Given the description of an element on the screen output the (x, y) to click on. 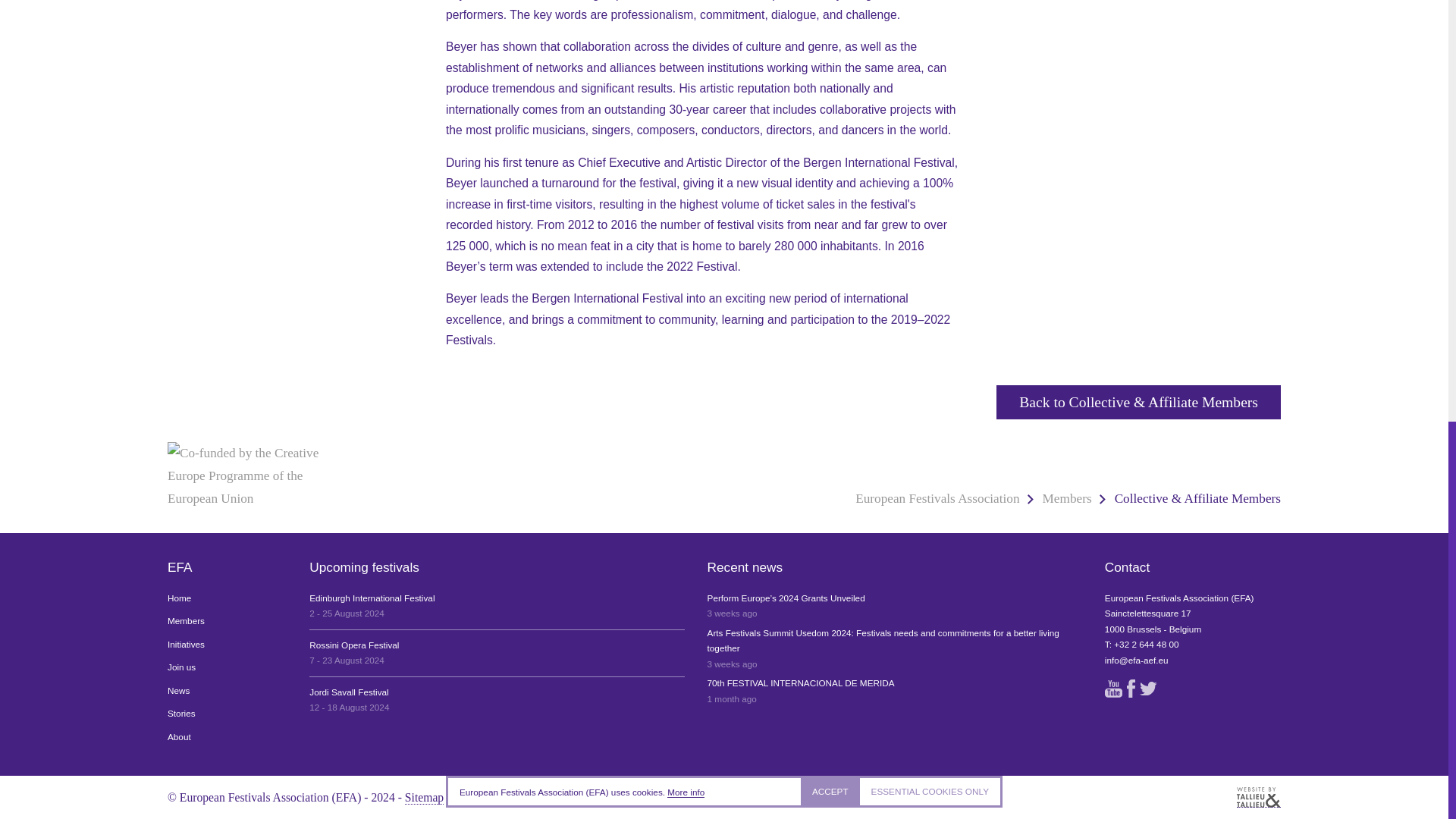
Youtube (1113, 687)
About (226, 737)
Home (226, 598)
Members (226, 621)
Stories (226, 713)
Join us (226, 667)
News (226, 691)
European Festivals Association (496, 653)
Members (937, 498)
Initiatives (496, 699)
